Given the description of an element on the screen output the (x, y) to click on. 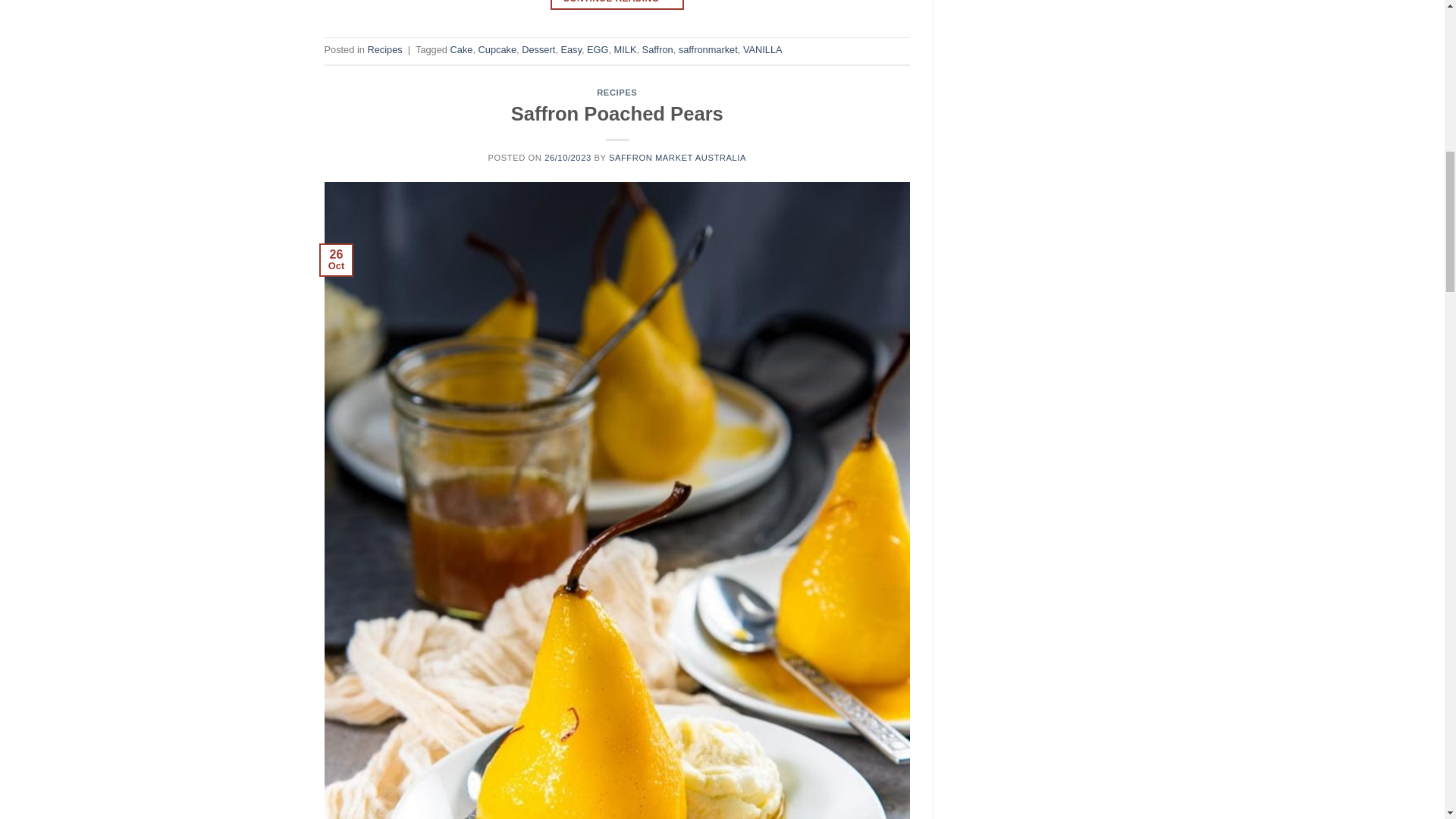
MILK (625, 49)
SAFFRON MARKET AUSTRALIA (676, 157)
saffronmarket (708, 49)
Saffron (657, 49)
Saffron Poached Pears (617, 113)
VANILLA (762, 49)
Cupcake (497, 49)
Dessert (537, 49)
Easy (570, 49)
EGG (597, 49)
